Given the description of an element on the screen output the (x, y) to click on. 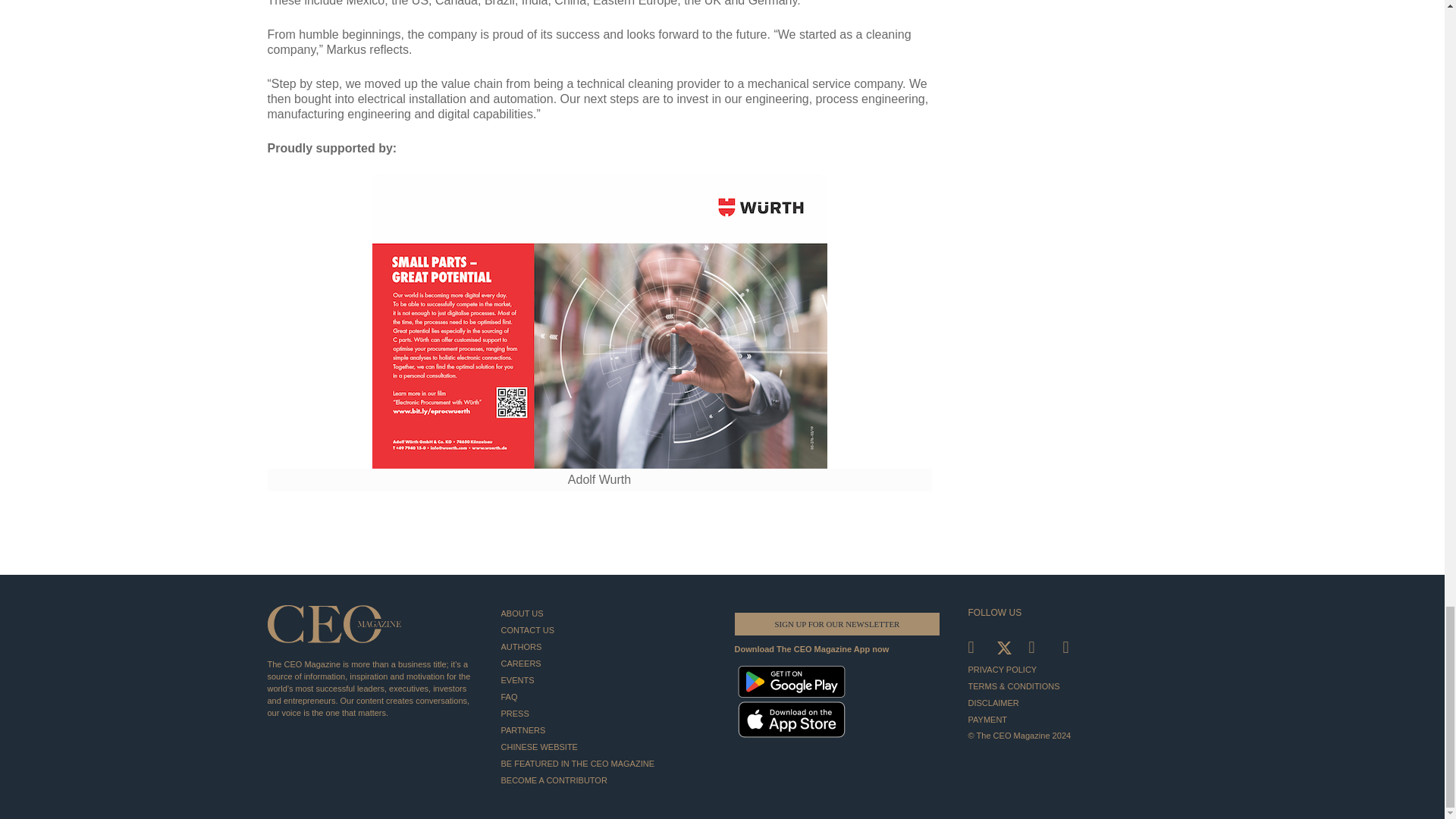
PRESS (605, 713)
About Us (605, 613)
CHINESE WEBSITE (605, 746)
Press (605, 713)
CAREERS (605, 663)
FAQ (605, 696)
BE FEATURED IN THE CEO MAGAZINE (605, 763)
ABOUT US (605, 613)
Contact Us (605, 629)
CONTACT US (605, 629)
FAQ (605, 696)
PARTNERS (605, 729)
Authors (605, 646)
Careers (605, 663)
EVENTS (605, 679)
